Given the description of an element on the screen output the (x, y) to click on. 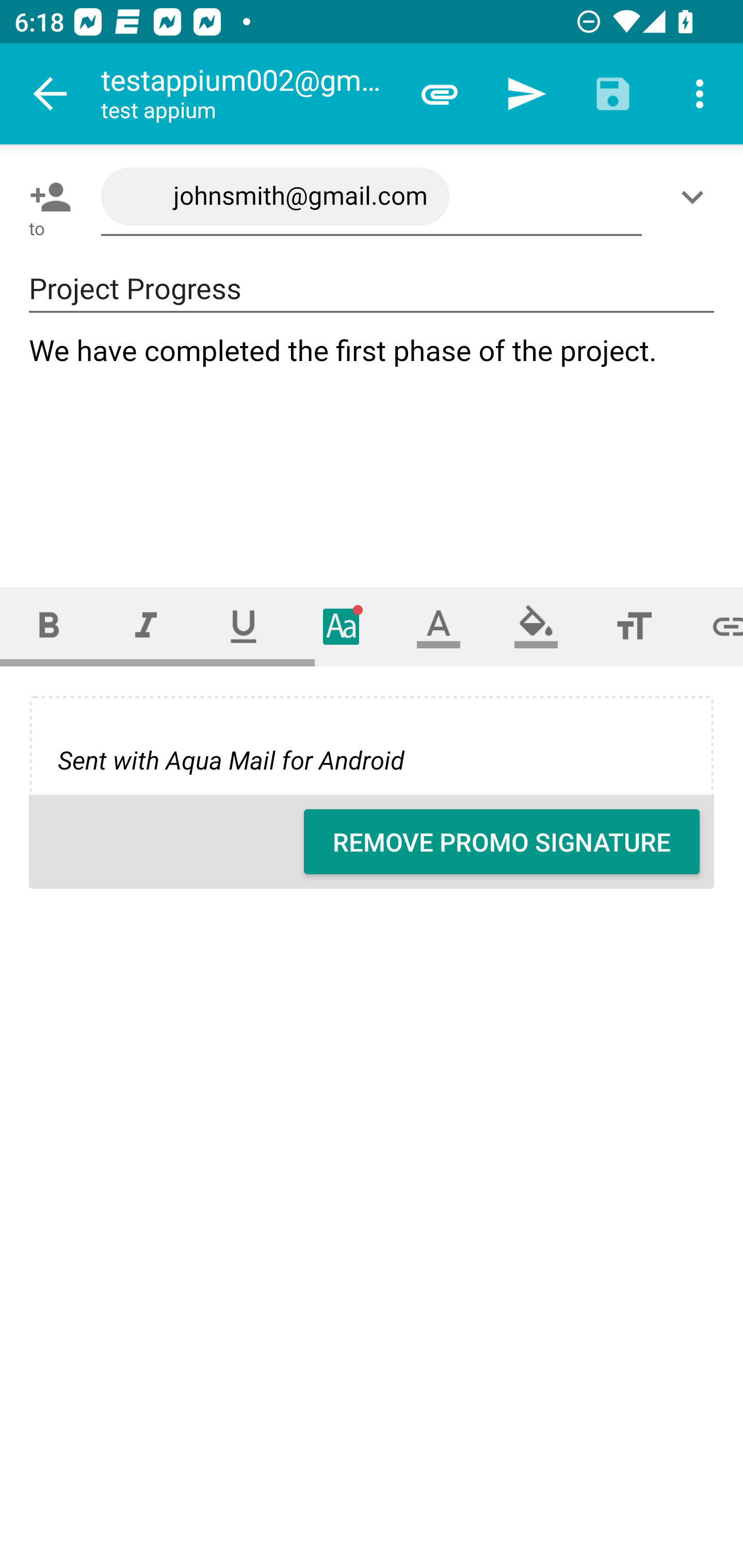
Navigate up (50, 93)
testappium002@gmail.com test appium (248, 93)
Attach (439, 93)
Send (525, 93)
Save (612, 93)
More options (699, 93)
johnsmith@gmail.com,  (371, 197)
Pick contact: To (46, 196)
Show/Add CC/BCC (696, 196)
Project Progress (371, 288)
We have completed the first phase of the project. (372, 442)
Bold (48, 626)
Italic (145, 626)
Underline (243, 626)
Typeface (font) (341, 626)
Text color (438, 626)
Fill color (536, 626)
Font size (633, 626)
REMOVE PROMO SIGNATURE (501, 841)
